Given the description of an element on the screen output the (x, y) to click on. 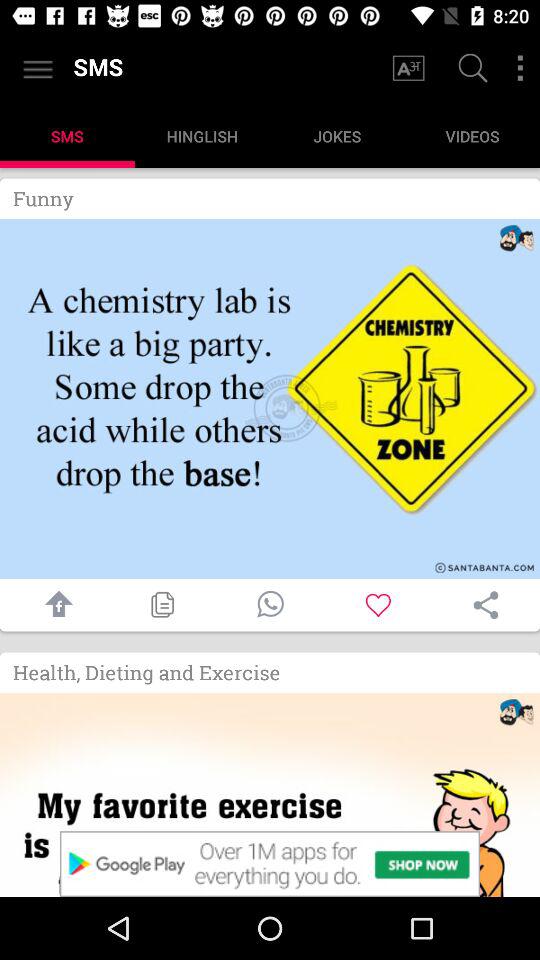
call the option (270, 604)
